Given the description of an element on the screen output the (x, y) to click on. 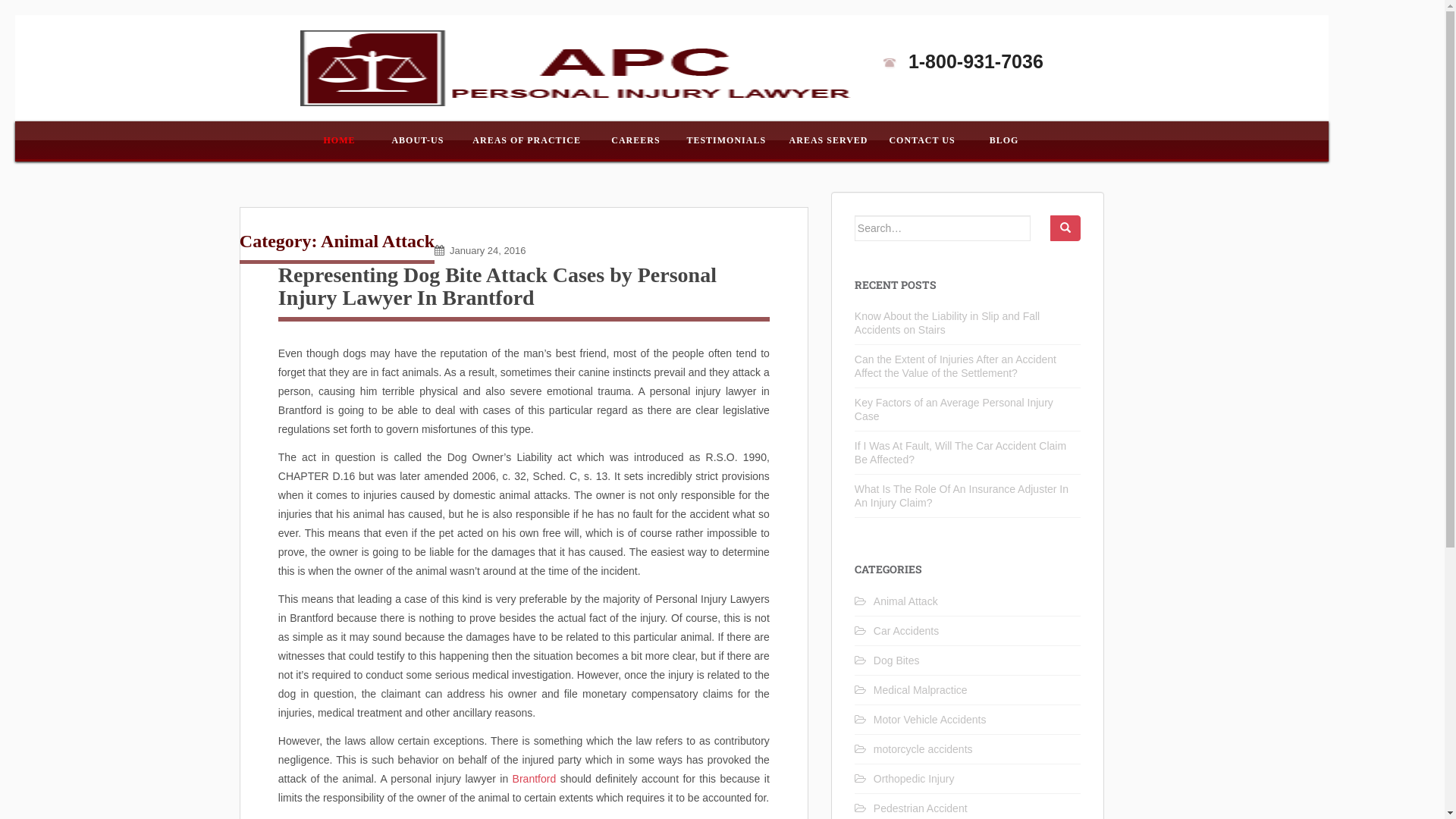
January 24, 2016 Element type: text (487, 250)
Key Factors of an Average Personal Injury Case Element type: text (953, 409)
Search Element type: text (1065, 228)
Medical Malpractice Element type: text (920, 690)
Brantford Element type: text (534, 778)
Motor Vehicle Accidents Element type: text (929, 719)
Orthopedic Injury Element type: text (913, 778)
AREAS SERVED Element type: text (827, 140)
Dog Bites Element type: text (896, 660)
If I Was At Fault, Will The Car Accident Claim Be Affected? Element type: text (960, 452)
HOME Element type: text (339, 138)
CAREERS Element type: text (635, 140)
Animal Attack Element type: text (905, 601)
Car Accidents Element type: text (905, 630)
motorcycle accidents Element type: text (922, 749)
TESTIMONIALS Element type: text (725, 140)
ABOUT-US Element type: text (417, 140)
Pedestrian Accident Element type: text (920, 808)
CONTACT US Element type: text (922, 140)
AREAS OF PRACTICE Element type: text (526, 140)
Skip to main content Element type: text (14, 14)
BLOG Element type: text (1003, 140)
Search for: Element type: hover (942, 228)
